Given the description of an element on the screen output the (x, y) to click on. 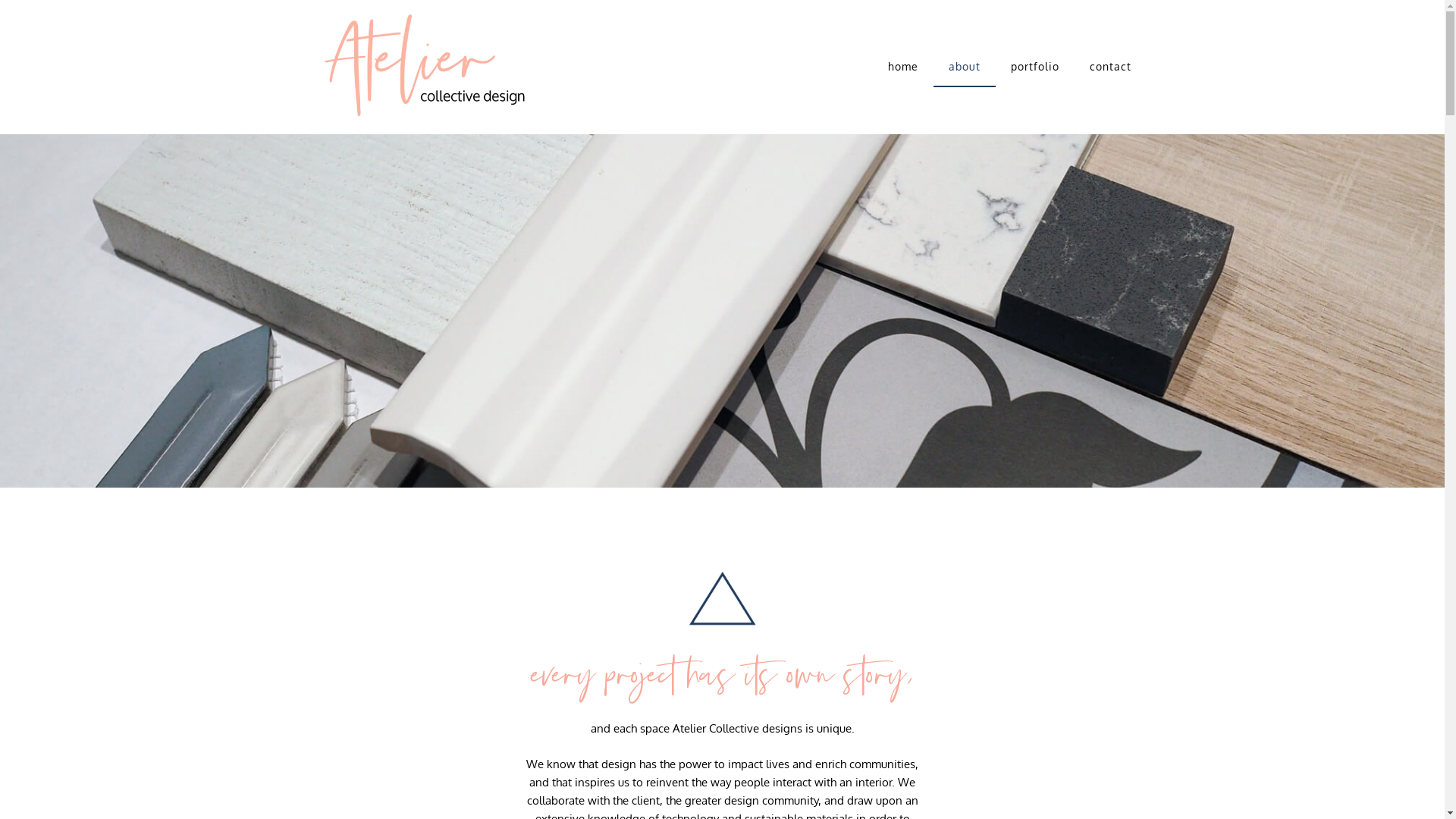
contact Element type: text (1110, 66)
about Element type: text (964, 66)
home Element type: text (902, 66)
portfolio Element type: text (1034, 66)
